Given the description of an element on the screen output the (x, y) to click on. 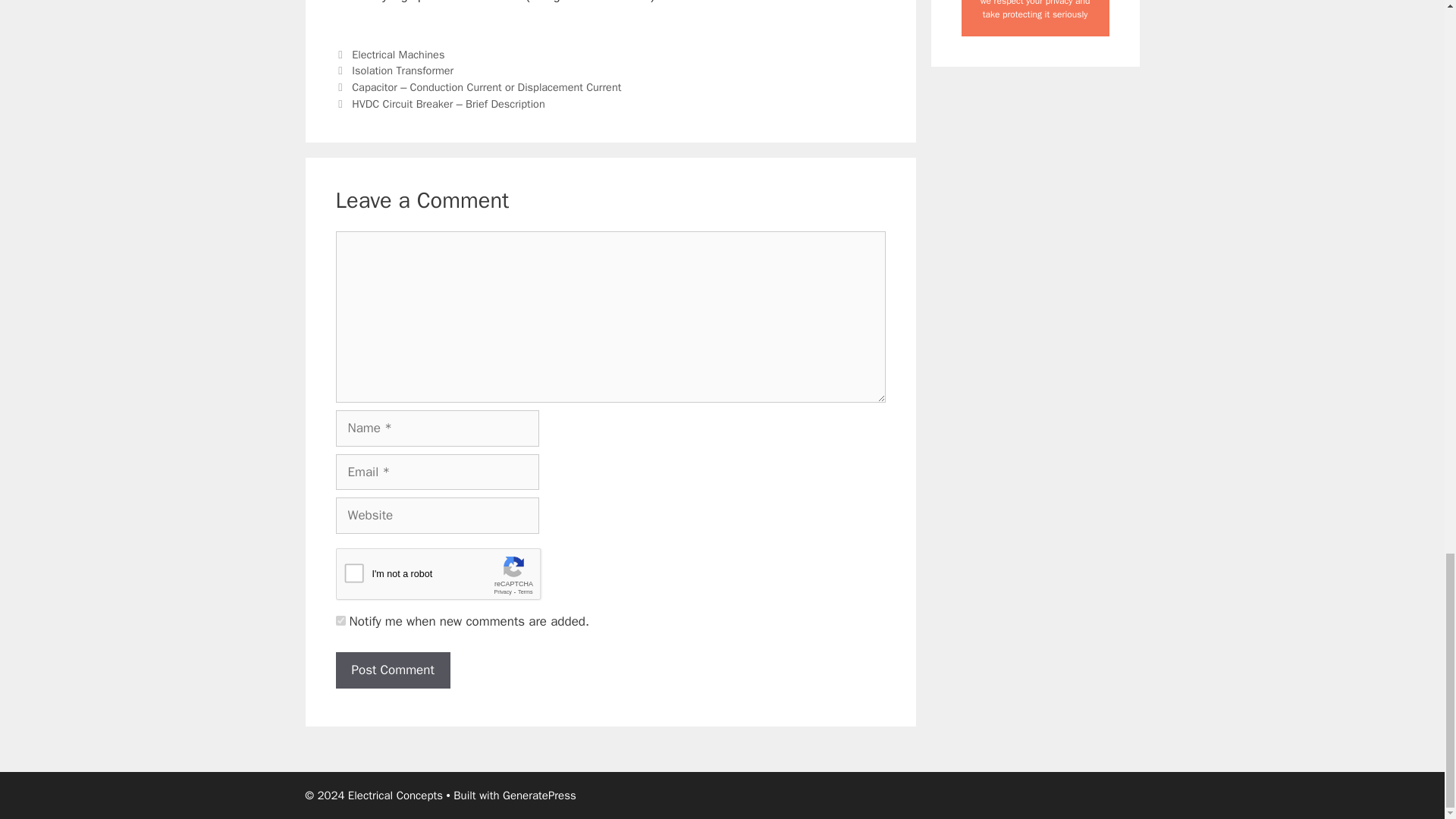
Post Comment (391, 669)
Isolation Transformer (402, 69)
1 (339, 620)
Next (439, 103)
GeneratePress (539, 795)
Post Comment (391, 669)
Previous (477, 87)
reCAPTCHA (450, 577)
Electrical Machines (398, 54)
